Given the description of an element on the screen output the (x, y) to click on. 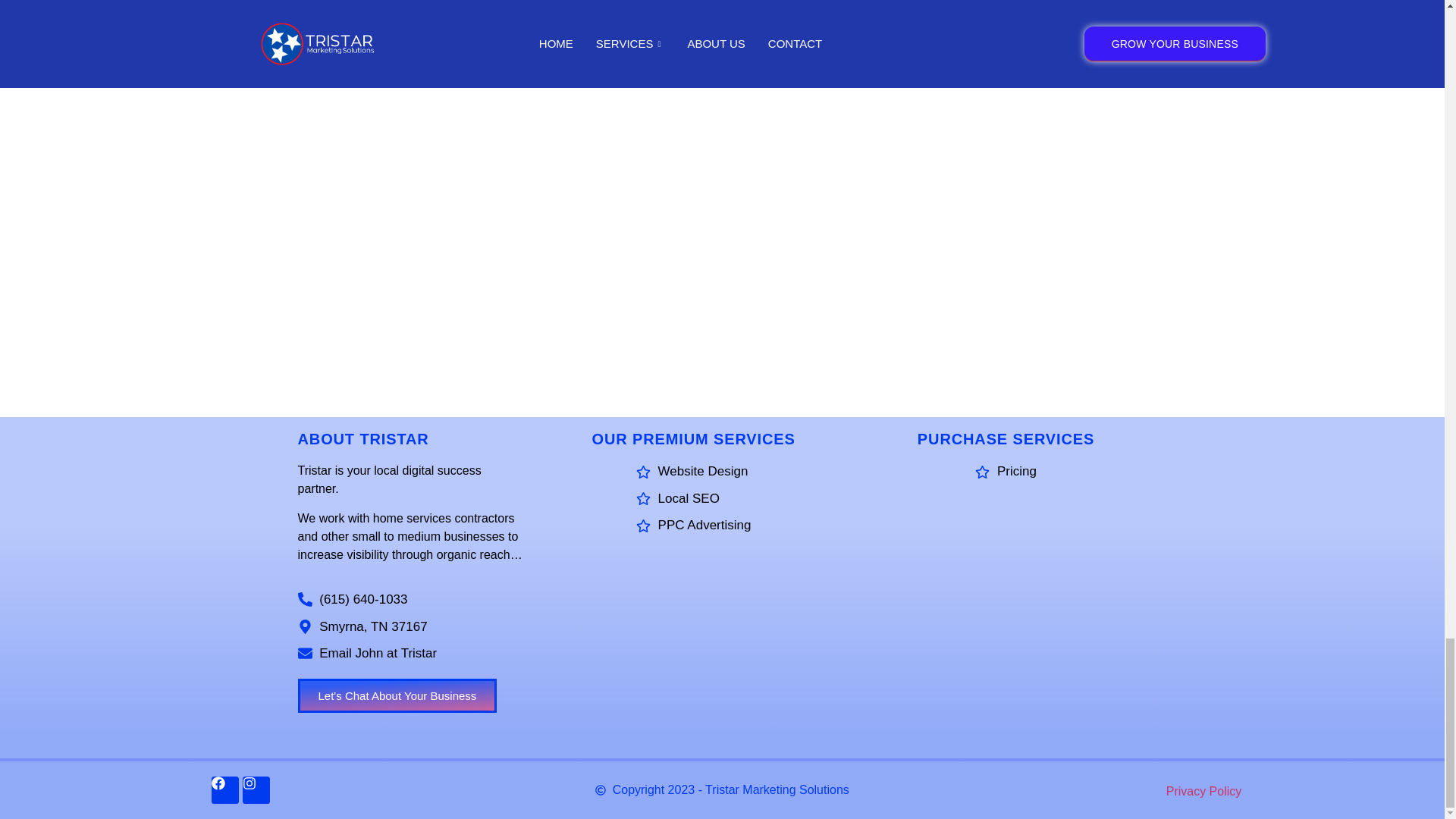
Email John at Tristar (409, 653)
Let's Chat About Your Business (396, 695)
Smyrna, TN 37167 (409, 627)
Get My Free Audit Now! (859, 4)
Website Design (693, 471)
